Given the description of an element on the screen output the (x, y) to click on. 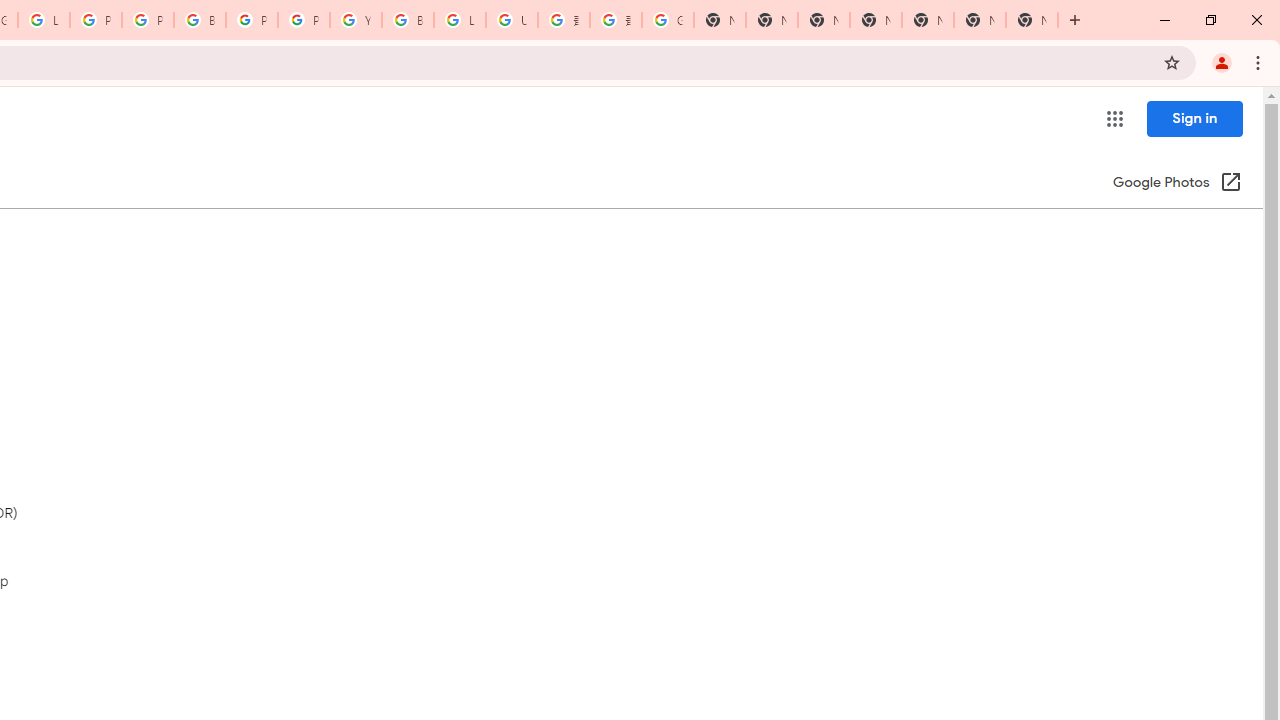
YouTube (355, 20)
Privacy Help Center - Policies Help (147, 20)
Privacy Help Center - Policies Help (95, 20)
New Tab (1032, 20)
